Given the description of an element on the screen output the (x, y) to click on. 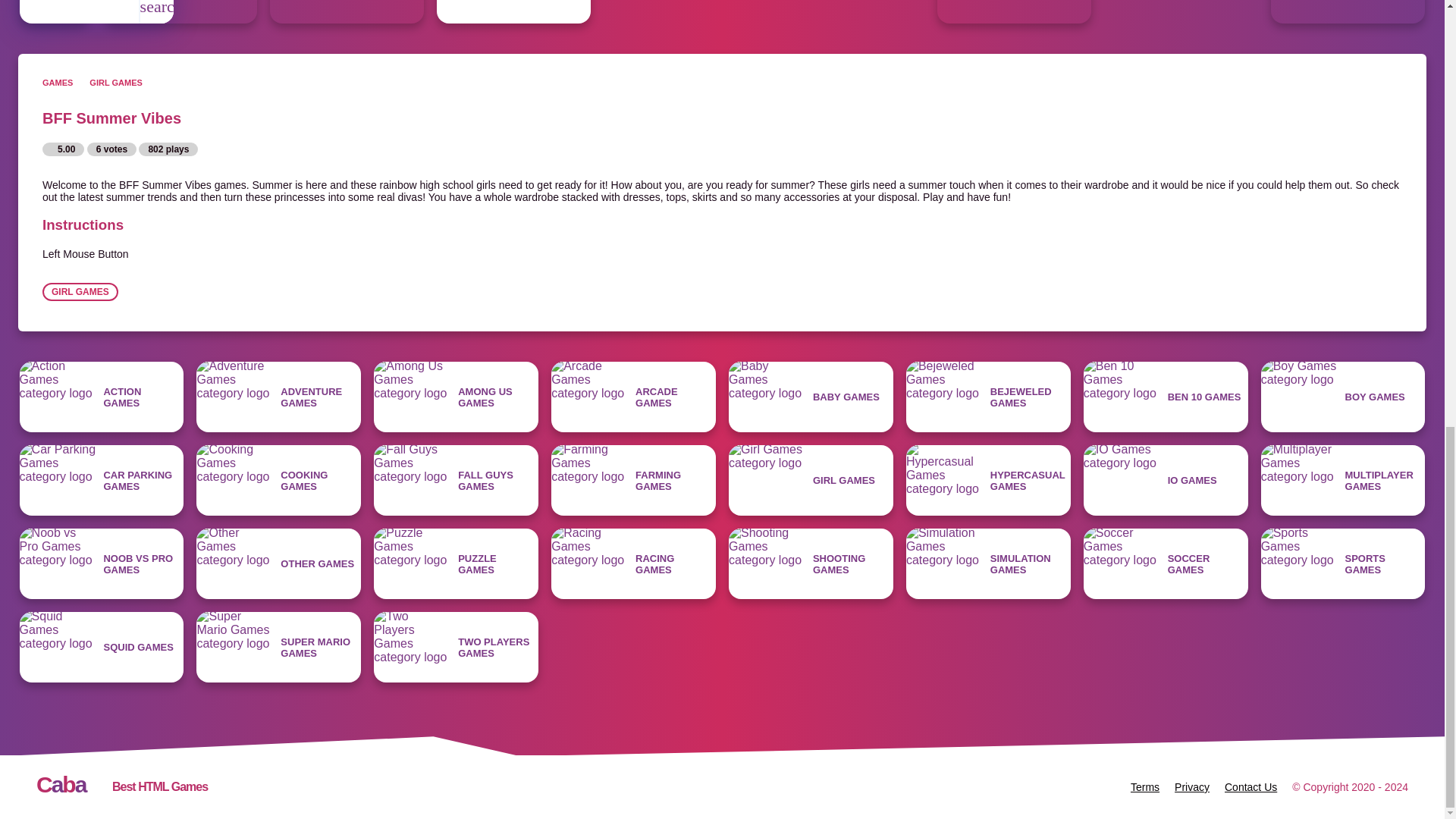
Girl Games (513, 11)
